Given the description of an element on the screen output the (x, y) to click on. 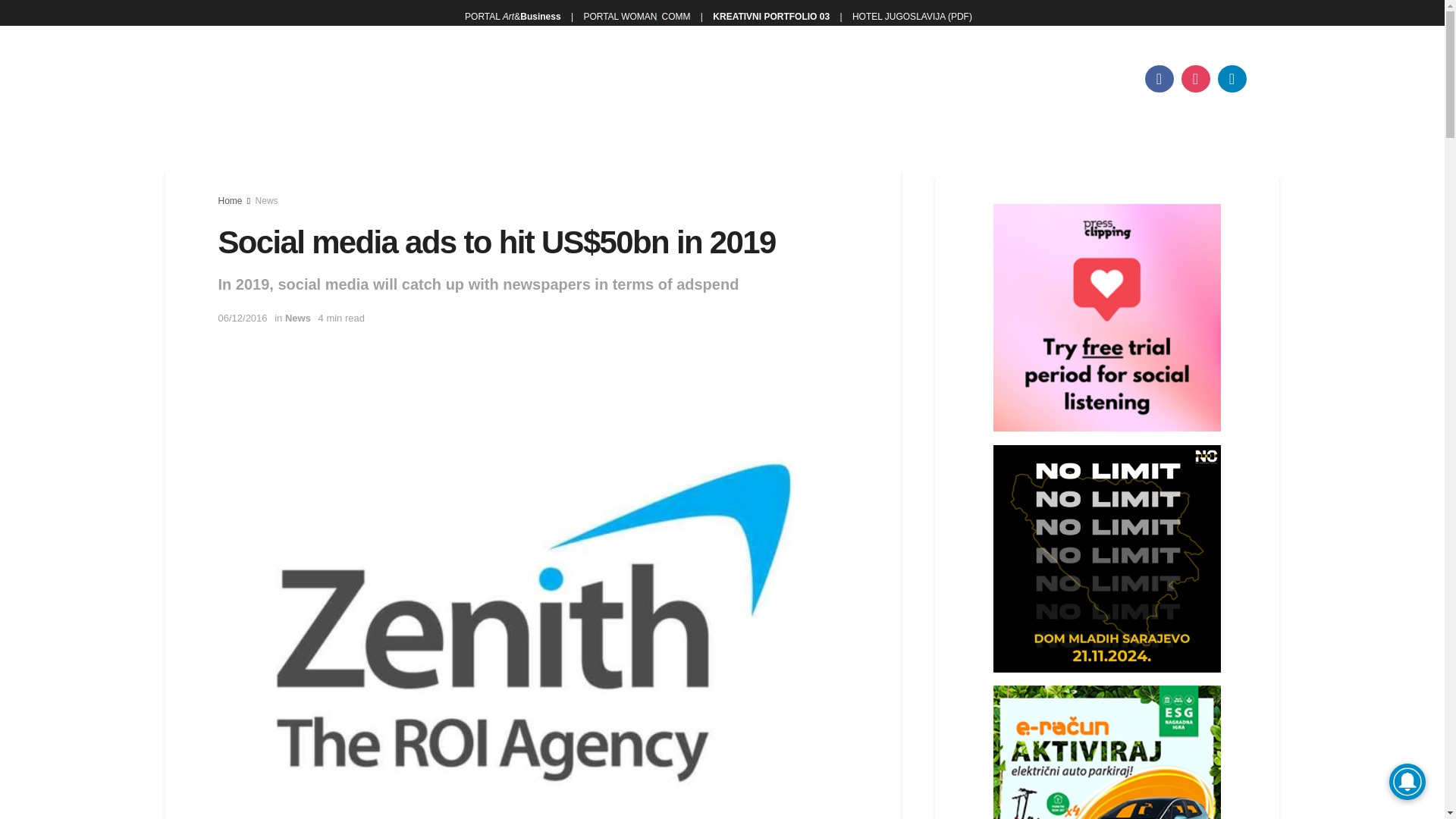
TEMA SEDMICE (354, 79)
PORTAL WOMANCOMM (636, 16)
INTERVJU (466, 79)
KREATIVNI PORTFOLIO 03 (770, 16)
VIJESTI (251, 79)
